Given the description of an element on the screen output the (x, y) to click on. 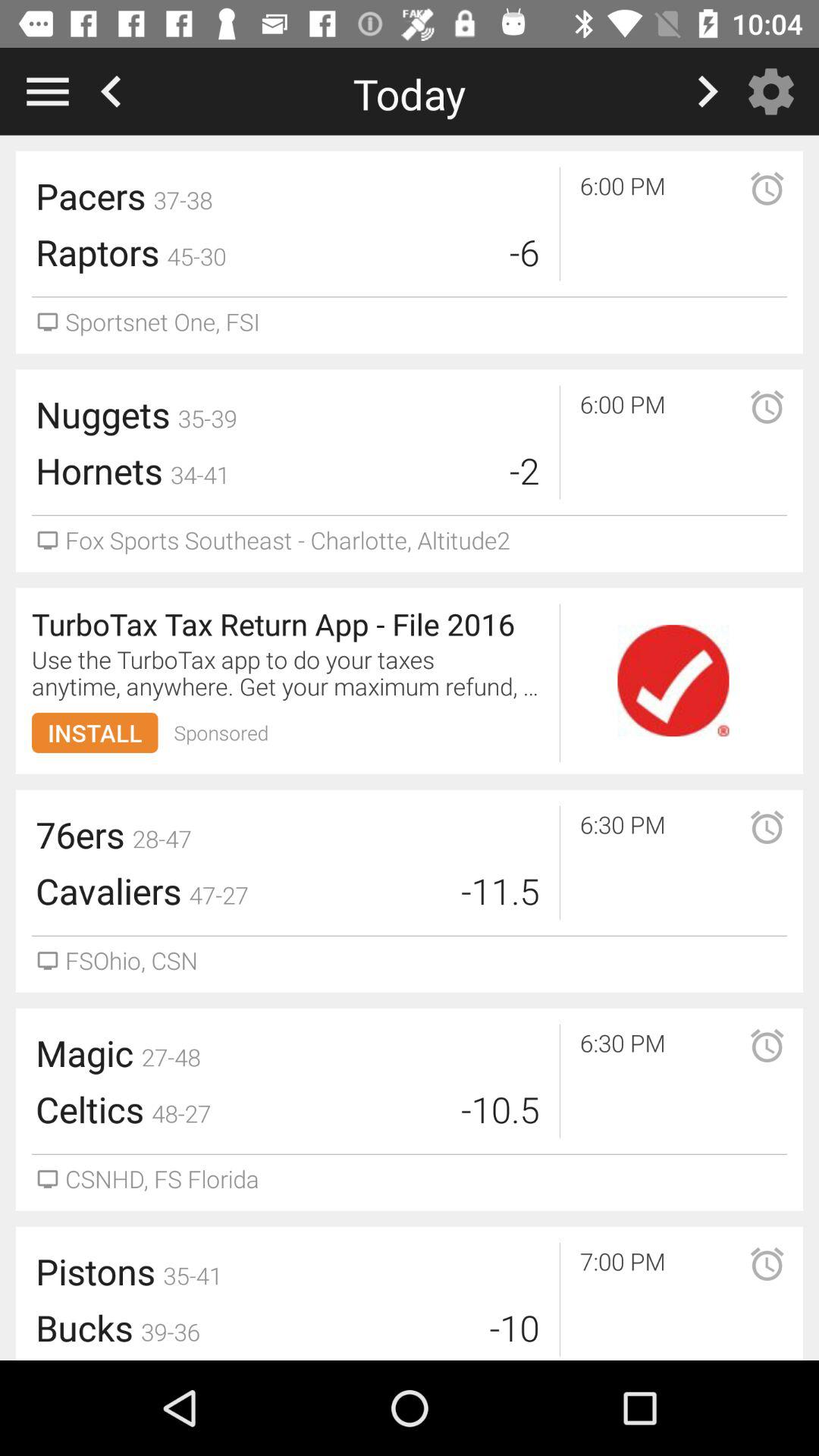
open item above the use the turbotax (289, 623)
